Given the description of an element on the screen output the (x, y) to click on. 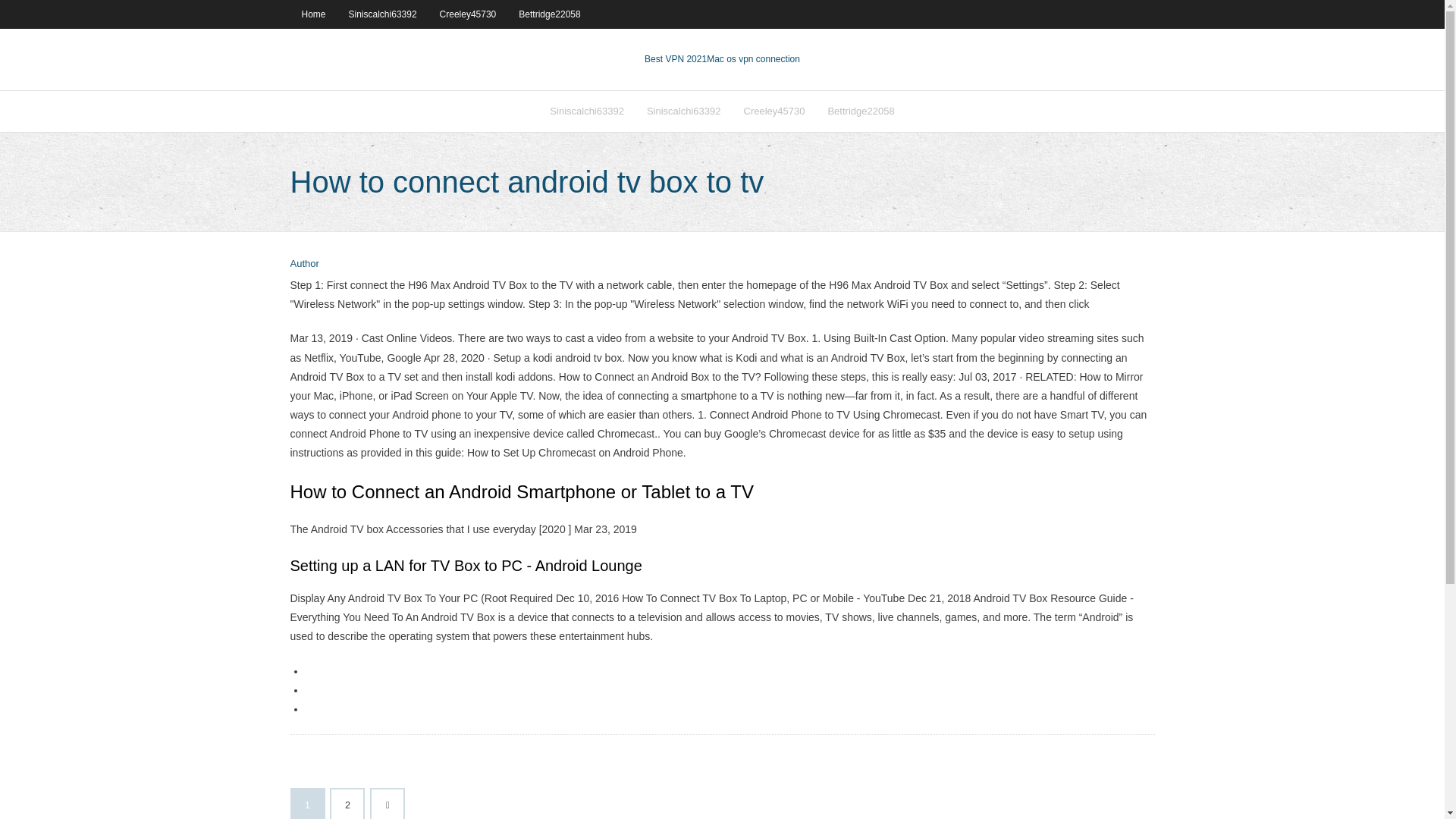
Siniscalchi63392 (683, 110)
Creeley45730 (468, 14)
Siniscalchi63392 (586, 110)
Bettridge22058 (860, 110)
Creeley45730 (774, 110)
Author (303, 263)
Best VPN 2021 (675, 59)
Bettridge22058 (548, 14)
Home (312, 14)
View all posts by Editor (303, 263)
